Given the description of an element on the screen output the (x, y) to click on. 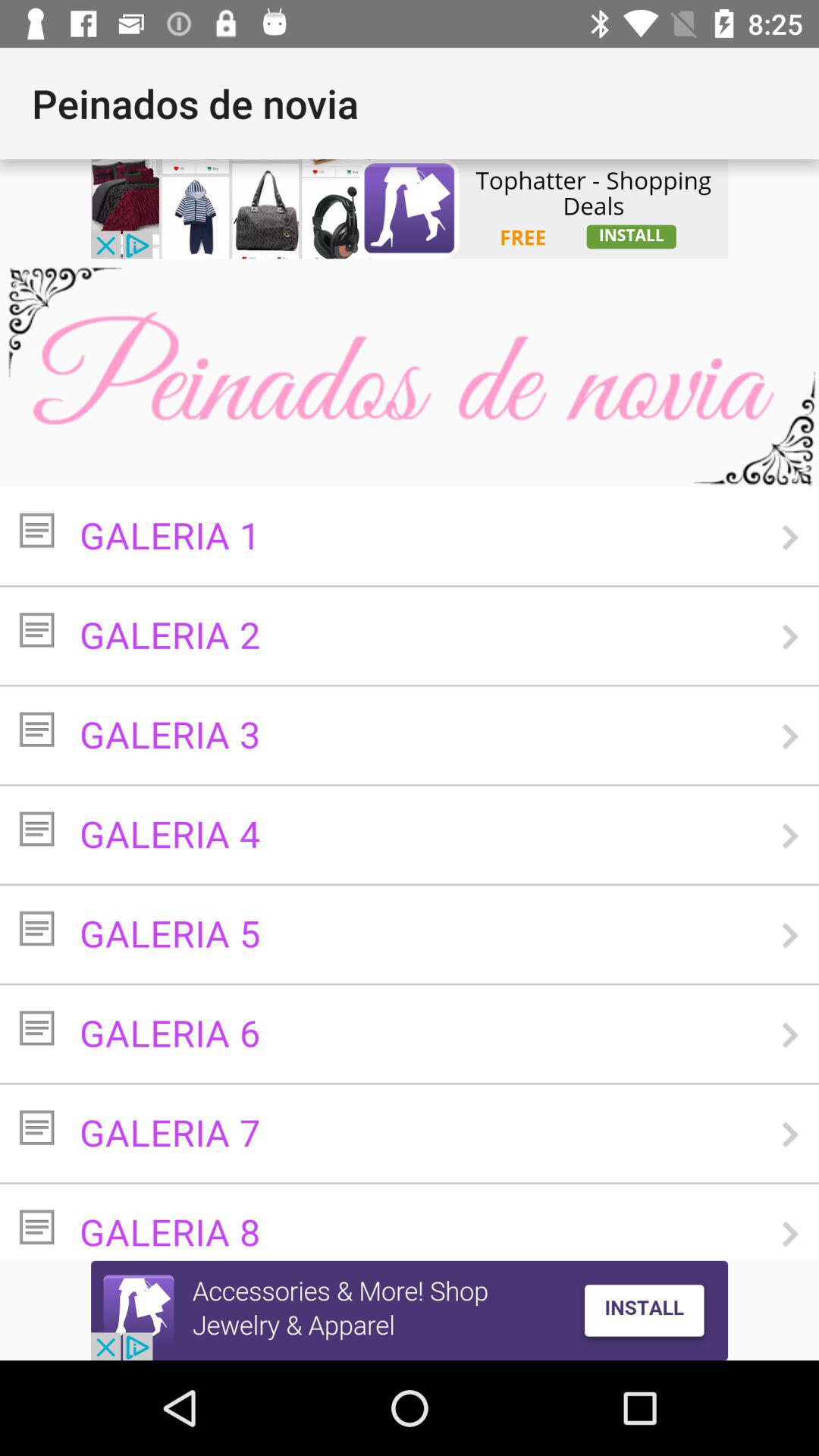
click the tophatter advertisement (409, 208)
